Given the description of an element on the screen output the (x, y) to click on. 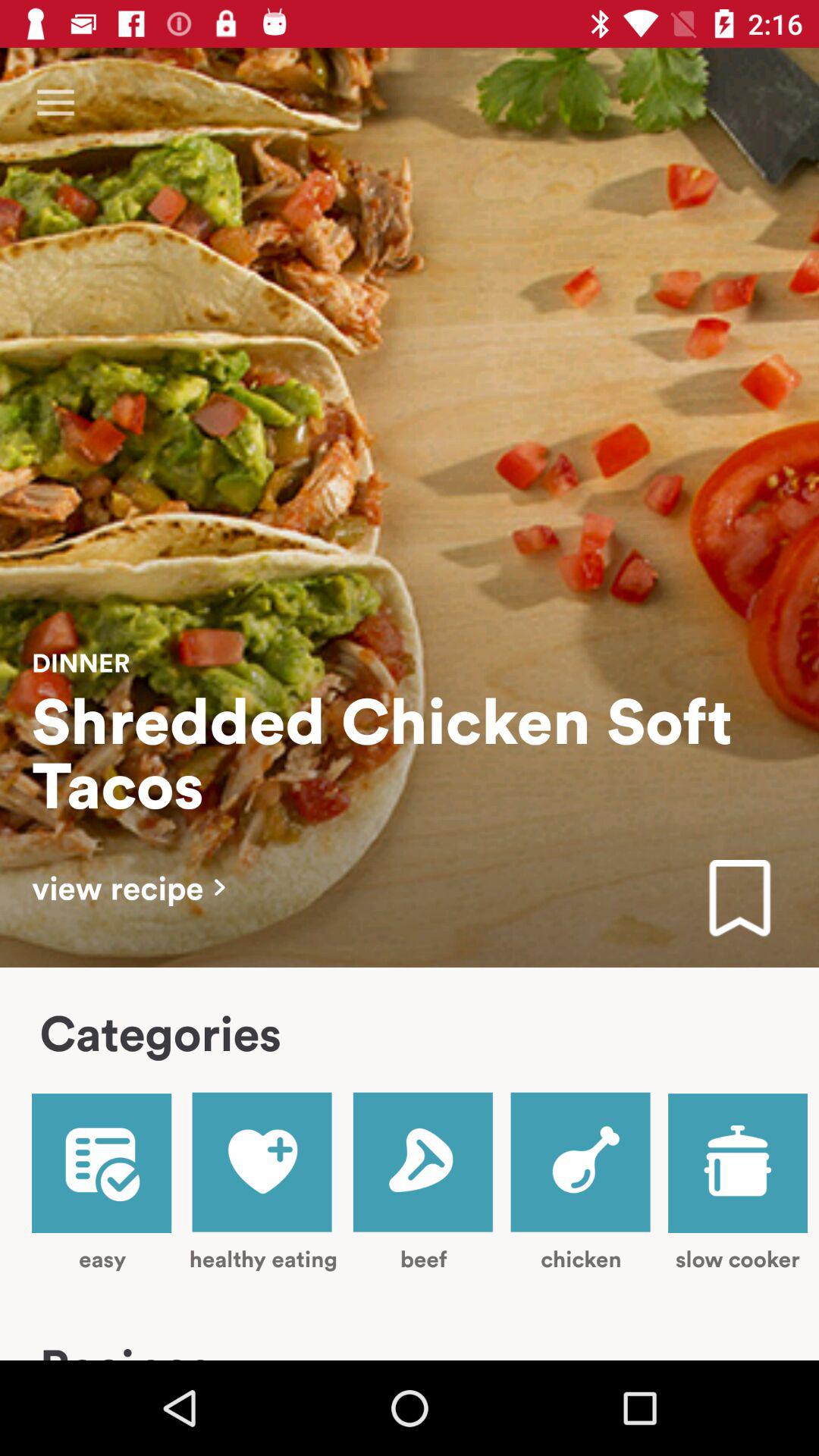
press healthy eating icon (263, 1181)
